Given the description of an element on the screen output the (x, y) to click on. 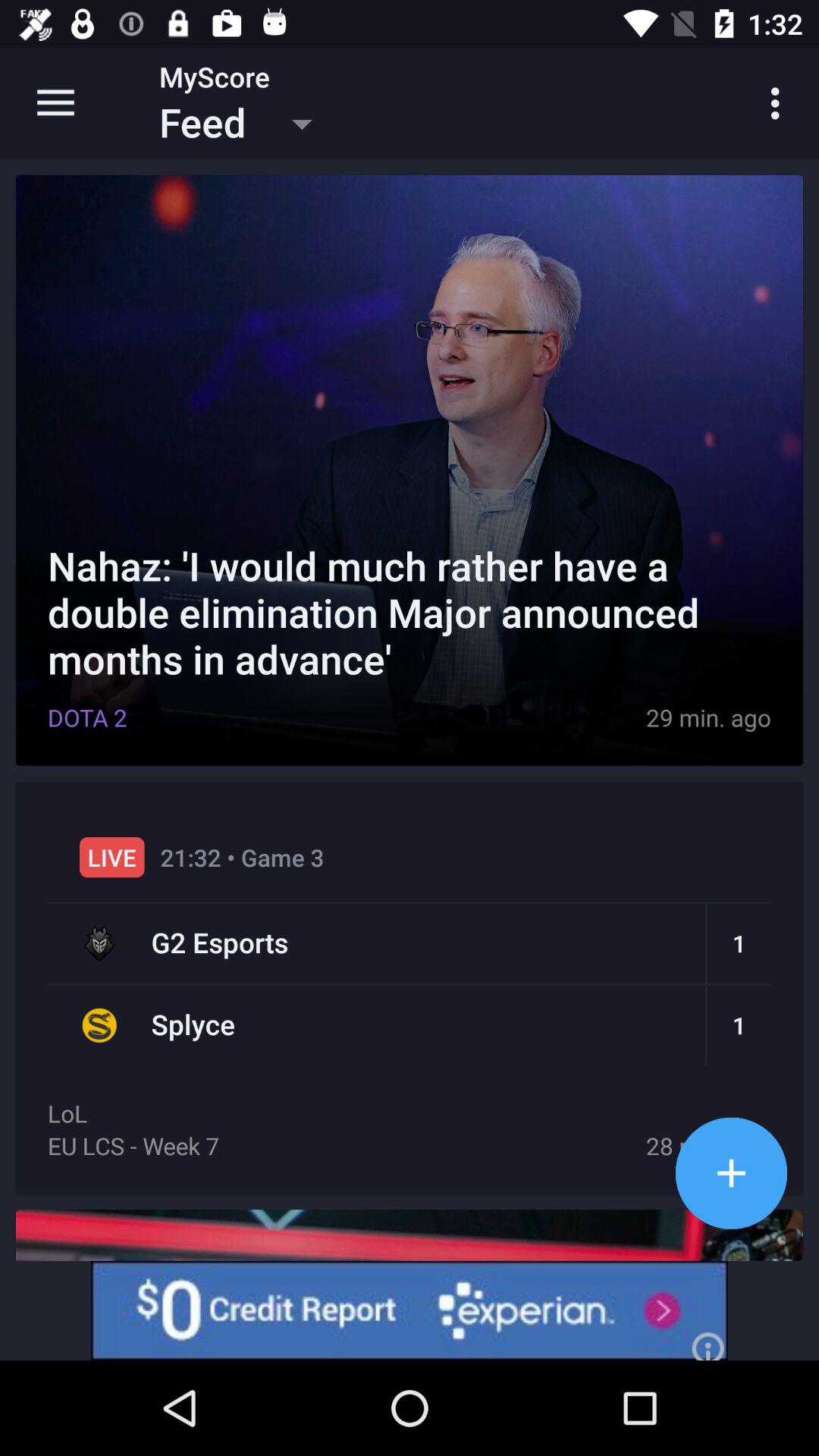
go to increase (731, 1173)
